Given the description of an element on the screen output the (x, y) to click on. 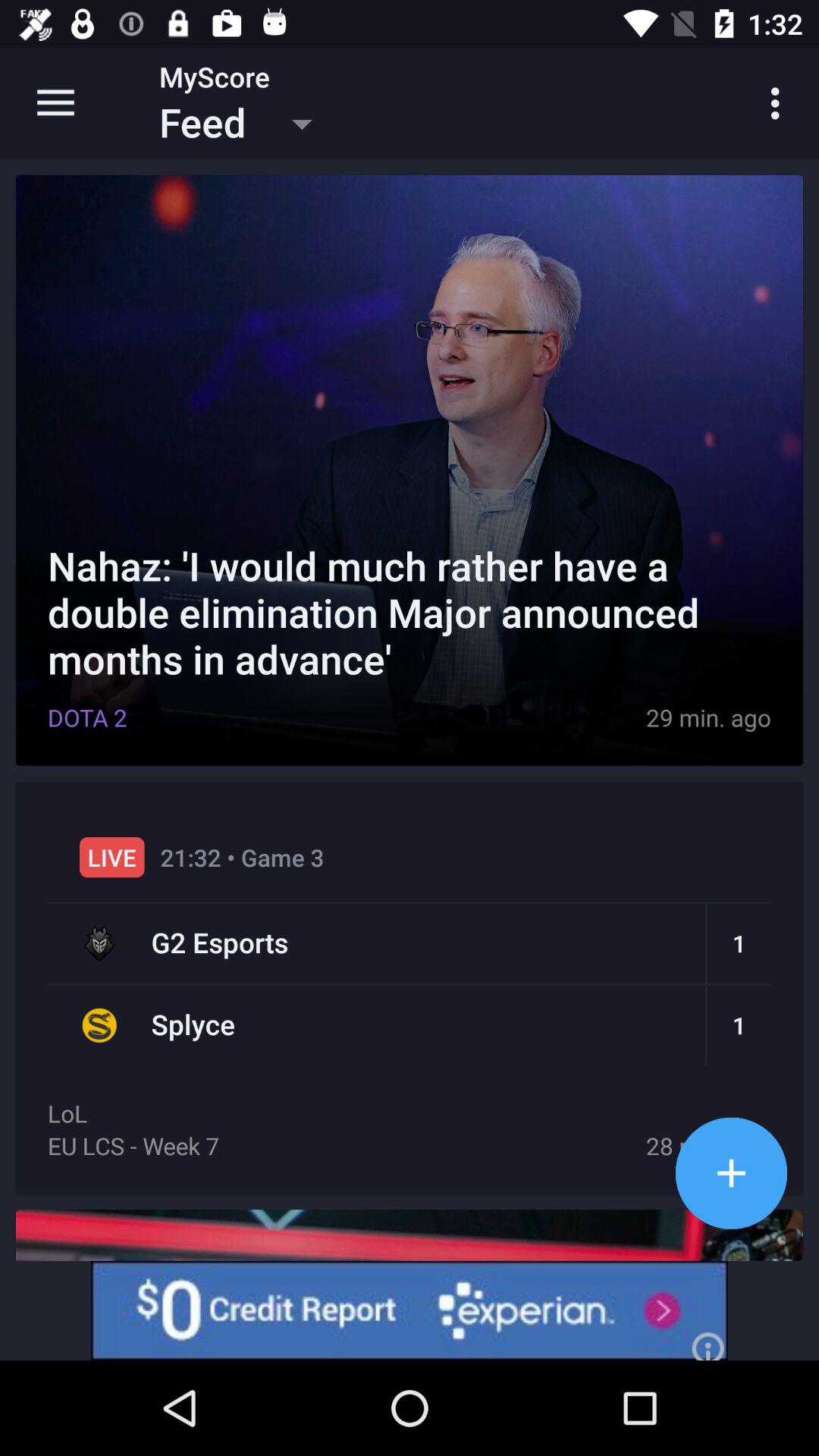
go to increase (731, 1173)
